Given the description of an element on the screen output the (x, y) to click on. 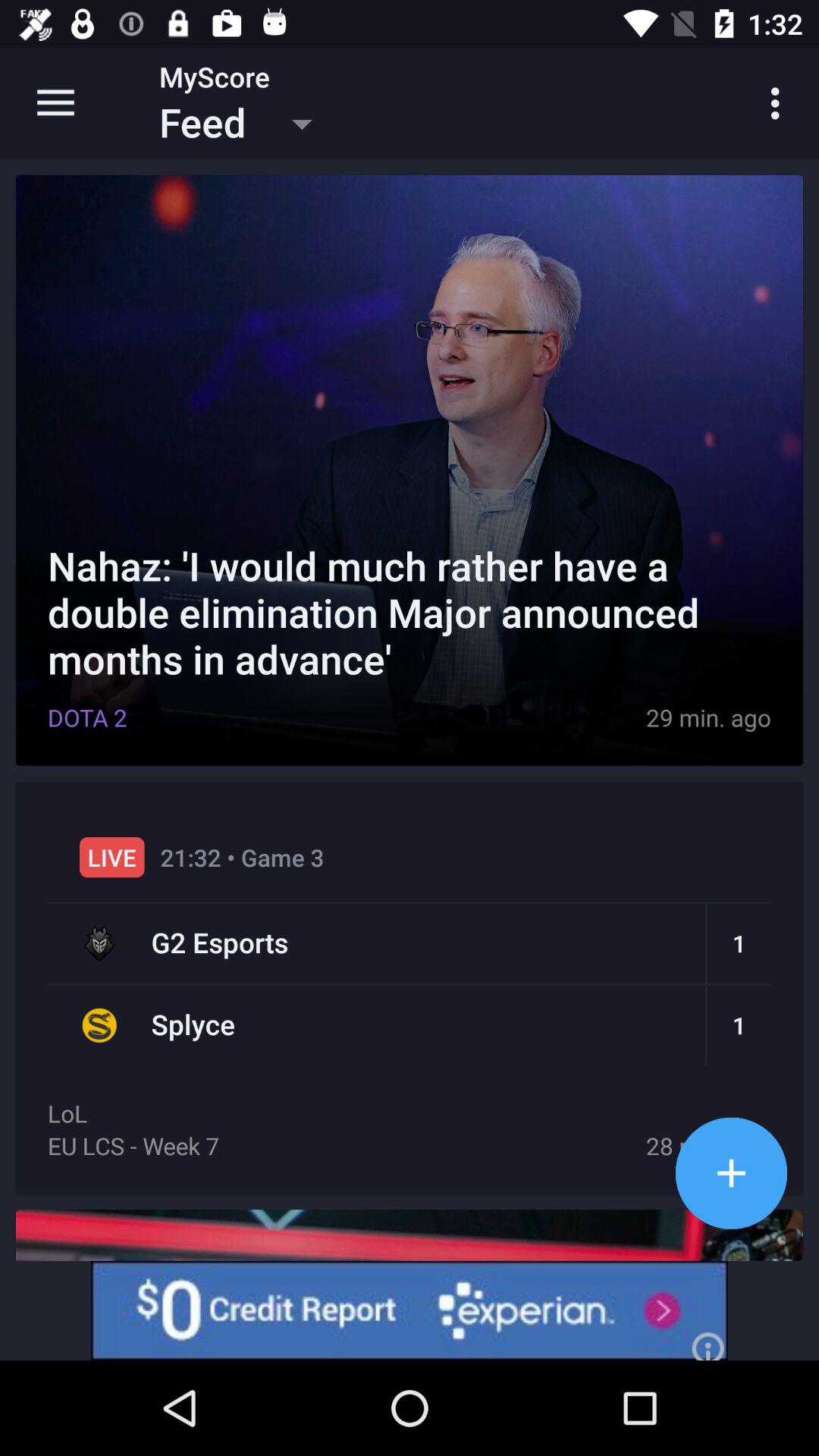
go to increase (731, 1173)
